Given the description of an element on the screen output the (x, y) to click on. 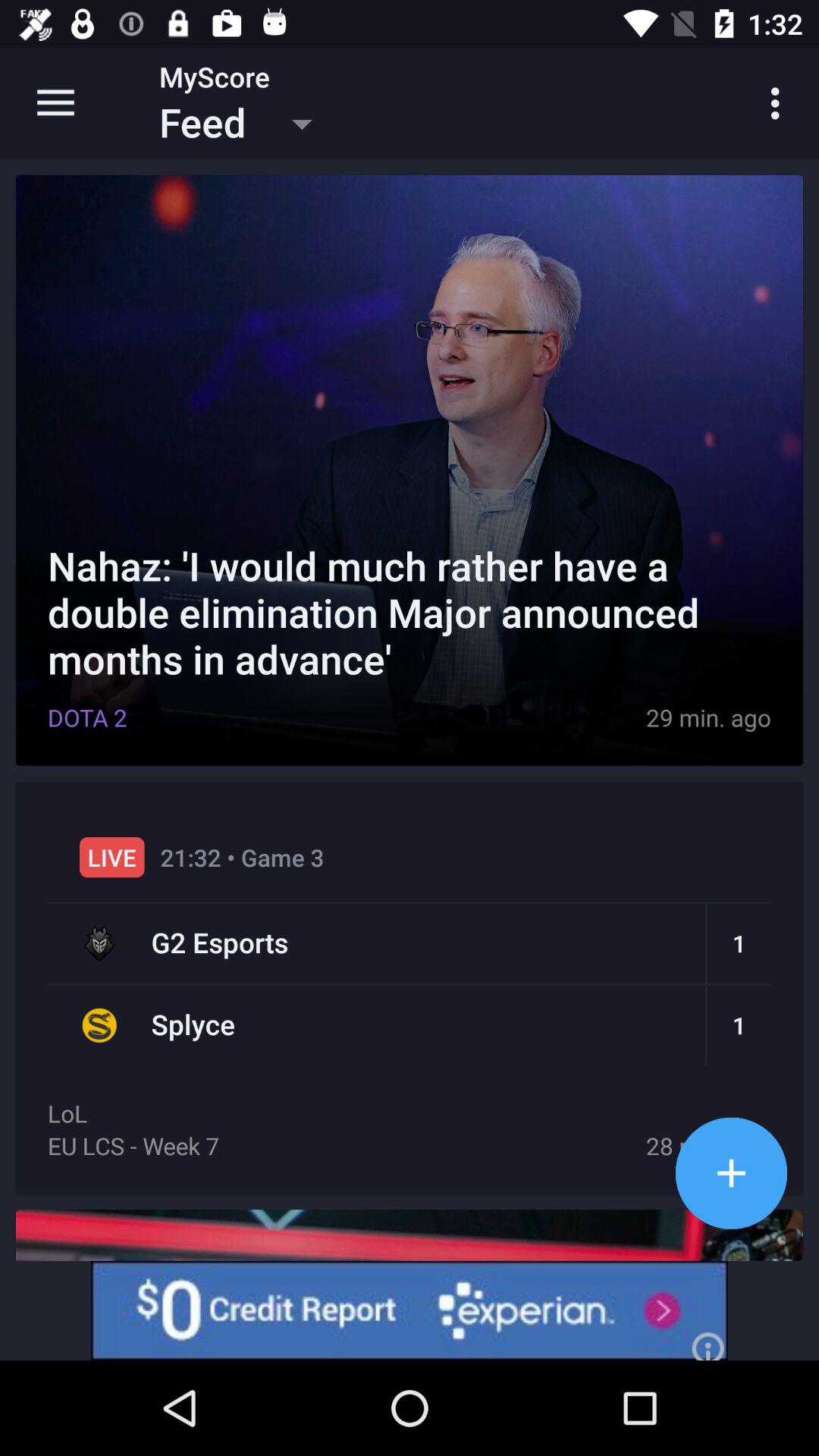
go to increase (731, 1173)
